Given the description of an element on the screen output the (x, y) to click on. 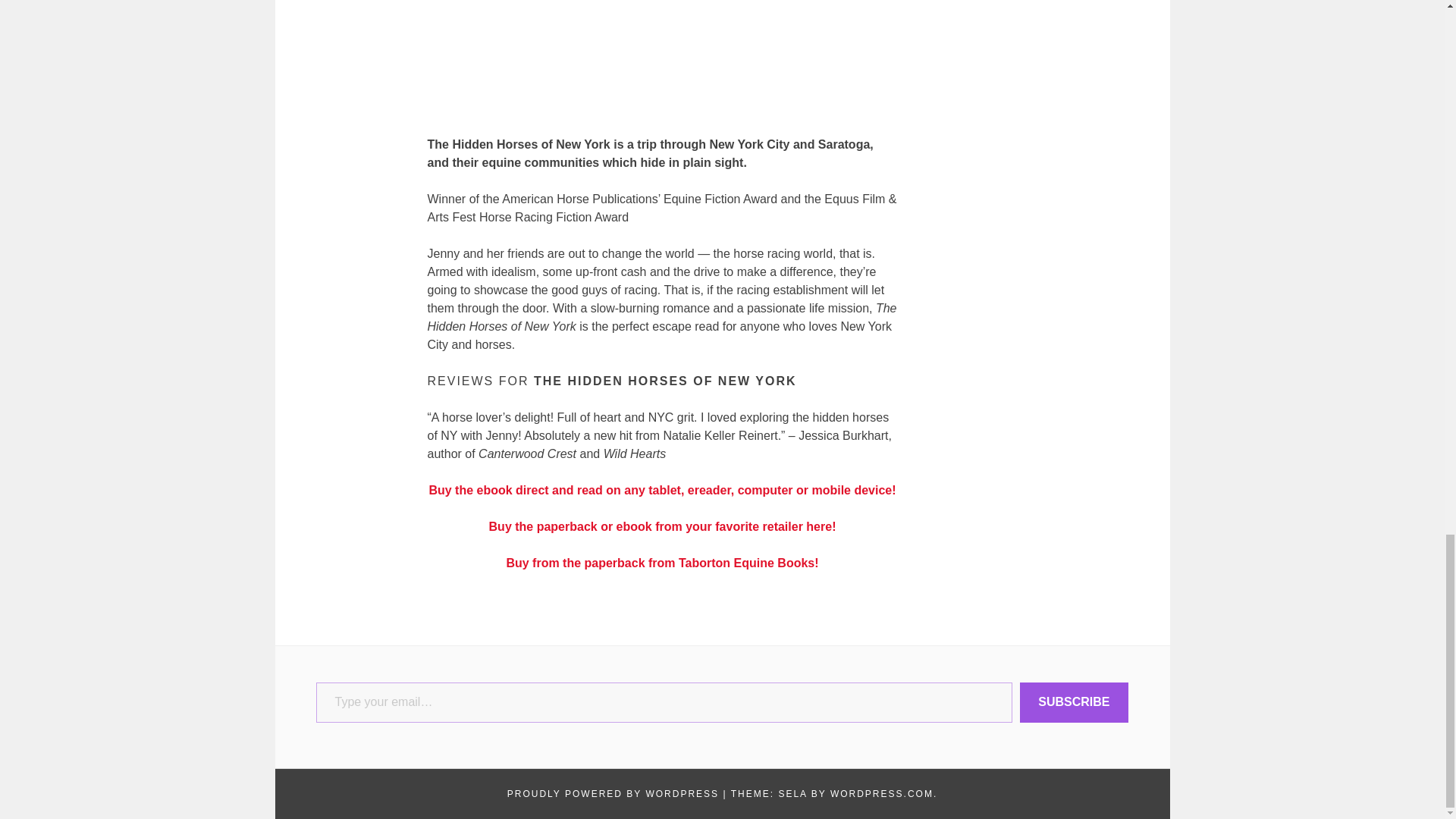
Buy the paperback or ebook from your favorite retailer here! (662, 526)
A Semantic Personal Publishing Platform (612, 793)
Buy from the paperback from Taborton Equine Books! (661, 562)
Please fill in this field. (663, 702)
